Given the description of an element on the screen output the (x, y) to click on. 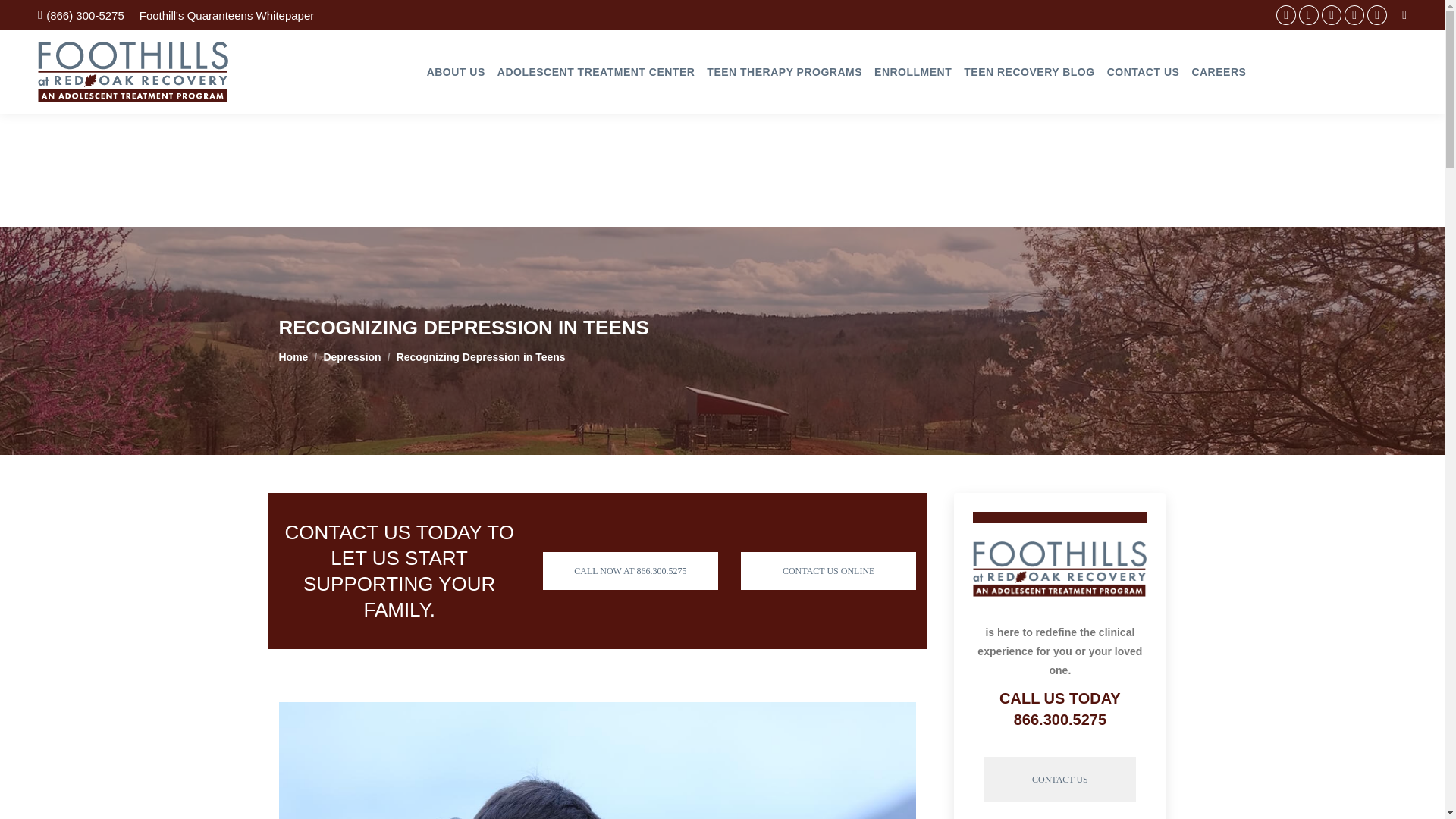
Facebook page opens in new window (1285, 14)
Twitter page opens in new window (1331, 14)
ADOLESCENT TREATMENT CENTER (596, 71)
Facebook page opens in new window (1285, 14)
YouTube page opens in new window (1353, 14)
Go! (24, 15)
Foothill's Quaranteens Whitepaper (226, 15)
Linkedin page opens in new window (1308, 14)
ABOUT US (455, 71)
Linkedin page opens in new window (1308, 14)
Twitter page opens in new window (1331, 14)
Instagram page opens in new window (1377, 14)
